Given the description of an element on the screen output the (x, y) to click on. 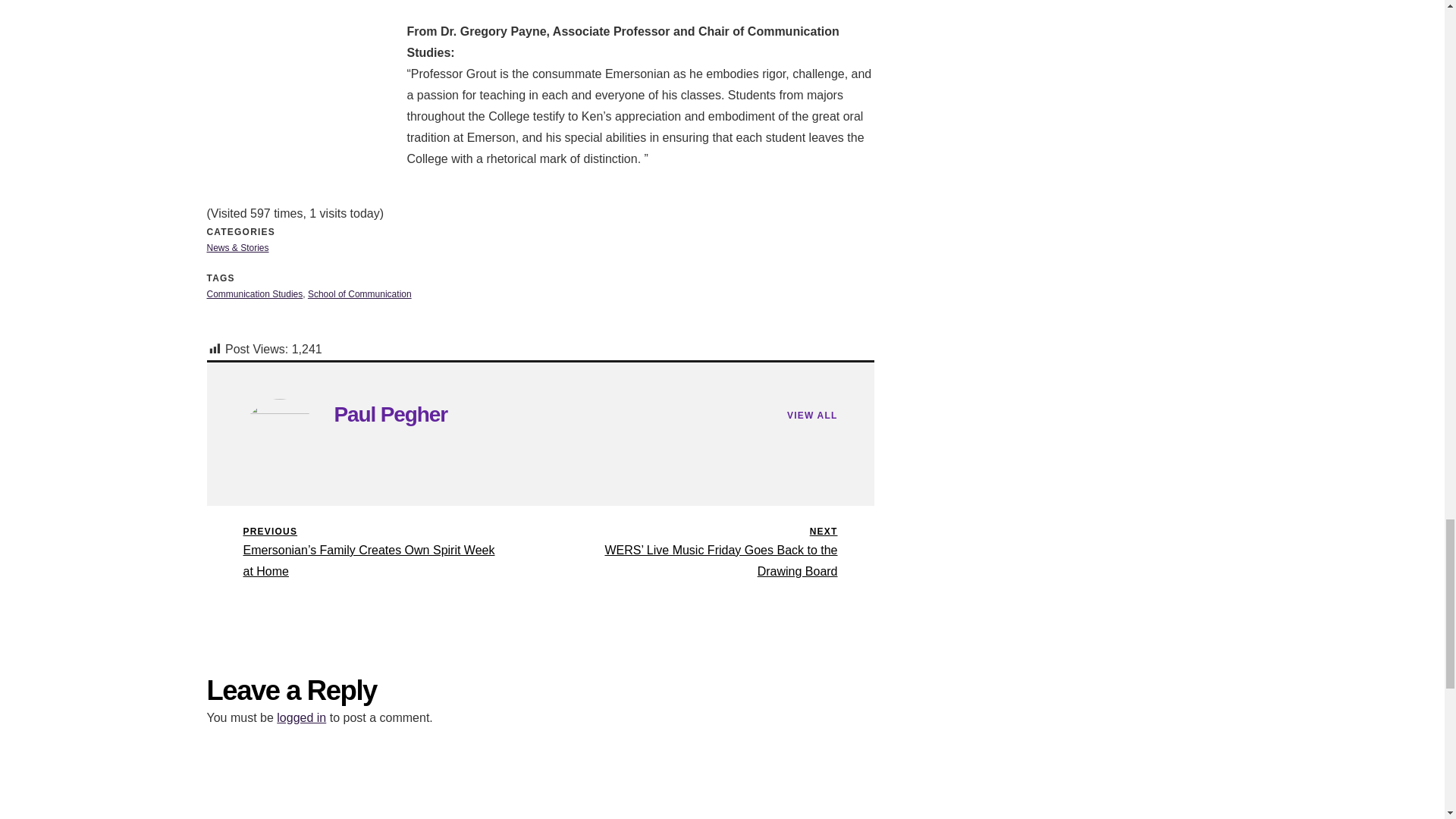
Communication Studies (254, 294)
logged in (301, 717)
School of Communication (389, 413)
